Given the description of an element on the screen output the (x, y) to click on. 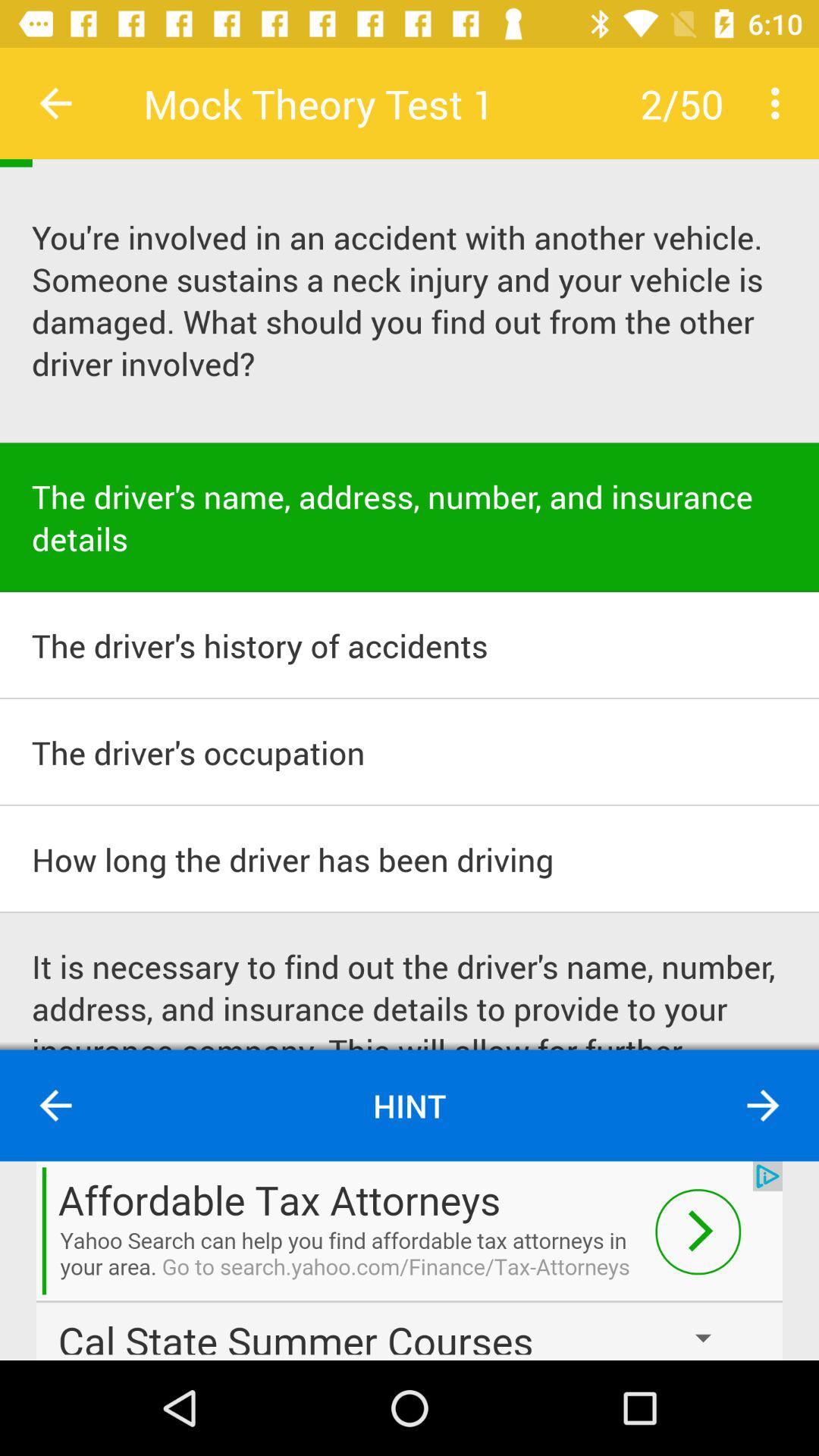
select advertisement (409, 1260)
